Given the description of an element on the screen output the (x, y) to click on. 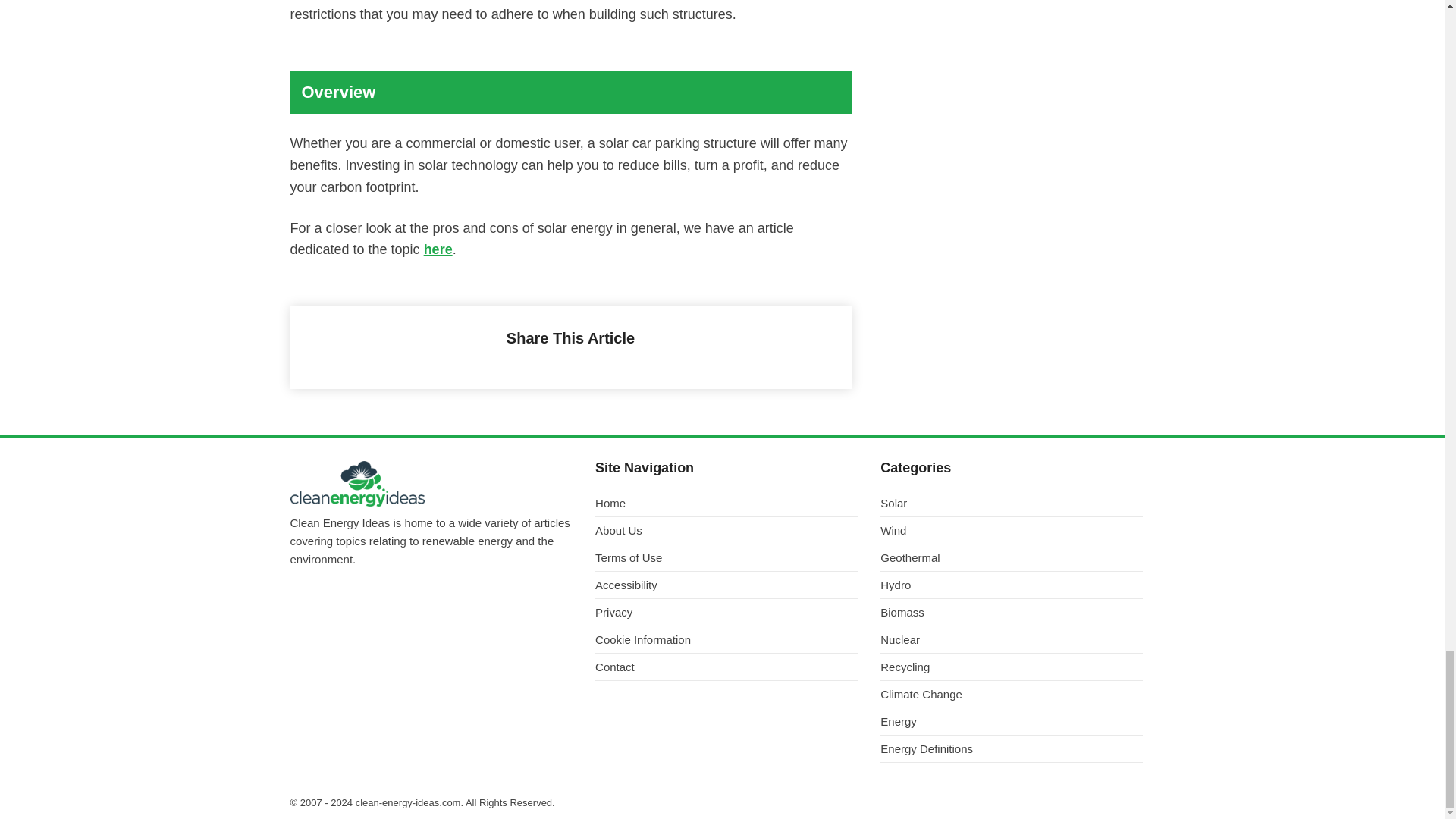
Cookie Information (726, 643)
Biomass (1011, 616)
Terms of Use (726, 561)
About Us (726, 534)
Accessibility (726, 588)
Home (726, 506)
here (437, 249)
Geothermal (1011, 561)
Solar (1011, 506)
Nuclear (1011, 643)
